Given the description of an element on the screen output the (x, y) to click on. 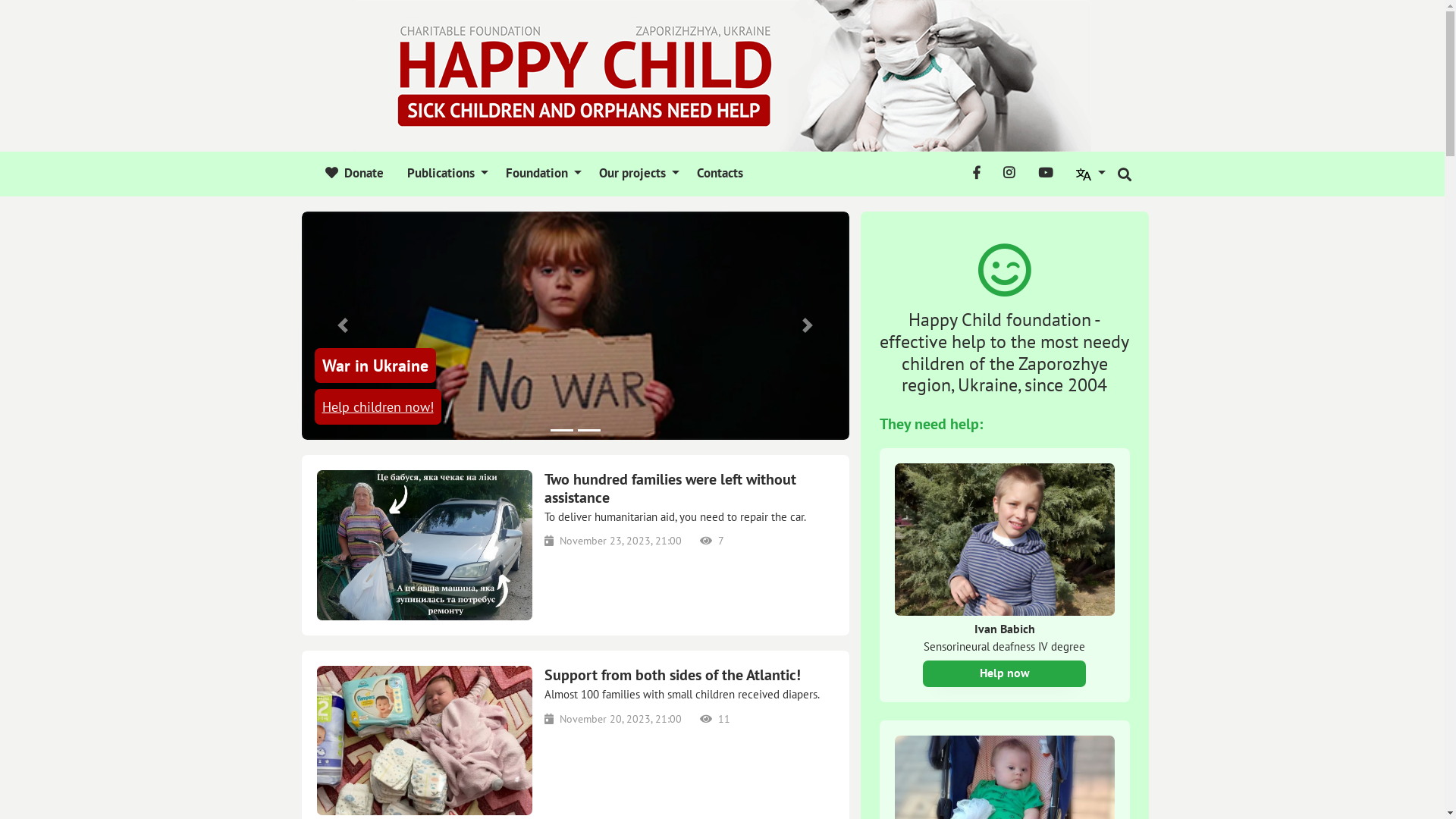
Foundation Element type: text (540, 173)
Ivan Babich Element type: text (1004, 628)
Contacts Element type: text (717, 173)
They need help: Element type: text (930, 423)
Publications Element type: text (444, 173)
Support from both sides of the Atlantic! Element type: text (689, 674)
Next Element type: text (807, 325)
Two hundred families were left without assistance Element type: text (689, 488)
Previous Element type: text (342, 325)
Help now Element type: text (1003, 673)
Donate Element type: text (354, 173)
Our projects Element type: text (636, 173)
Help children now! Element type: text (376, 406)
